Given the description of an element on the screen output the (x, y) to click on. 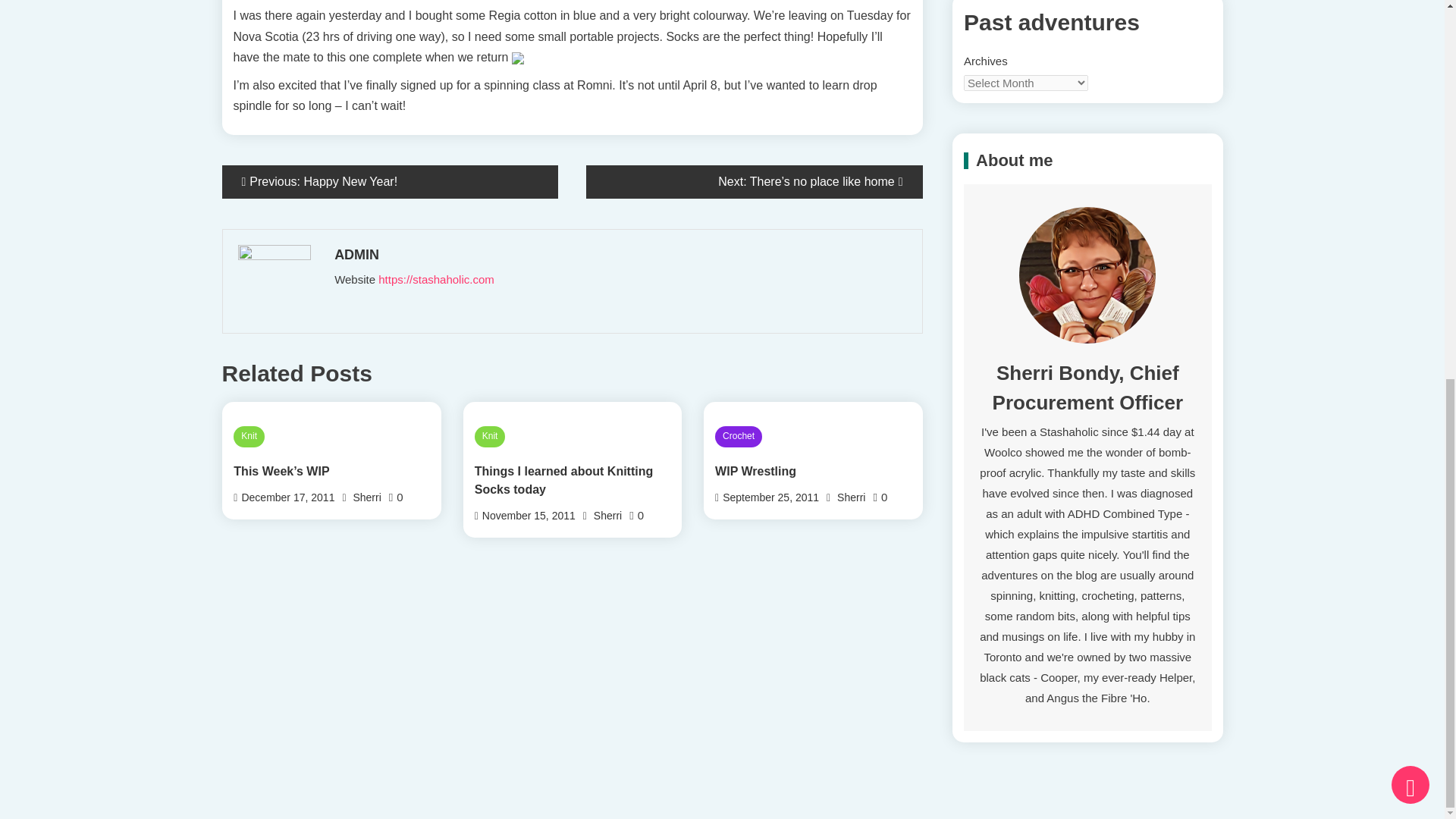
Previous: Happy New Year! (389, 182)
December 17, 2011 (287, 497)
Knit (248, 436)
Sherri (366, 497)
ADMIN (618, 254)
Posts by admin (618, 254)
Knit (489, 436)
